Given the description of an element on the screen output the (x, y) to click on. 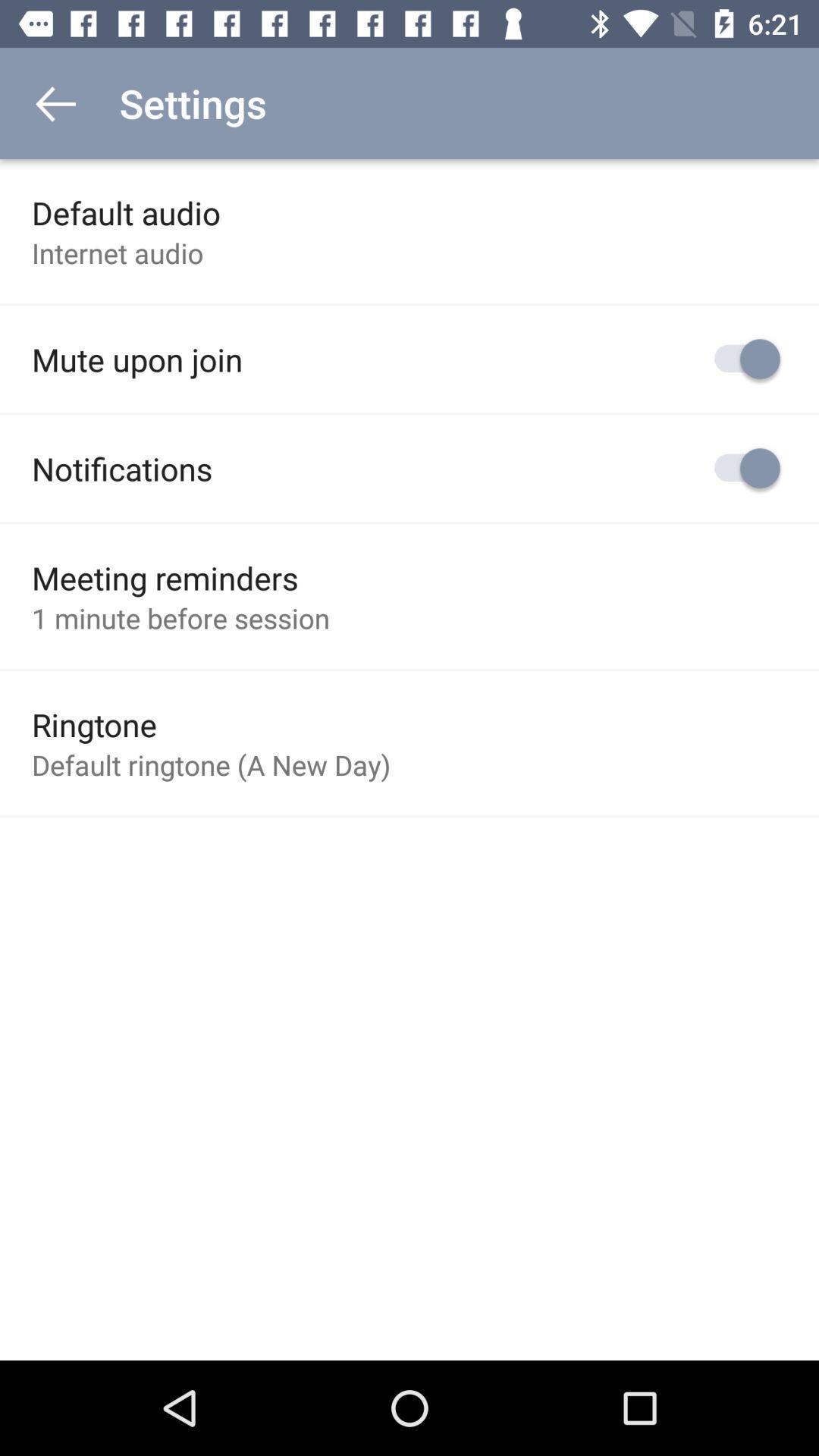
swipe until mute upon join (136, 359)
